Given the description of an element on the screen output the (x, y) to click on. 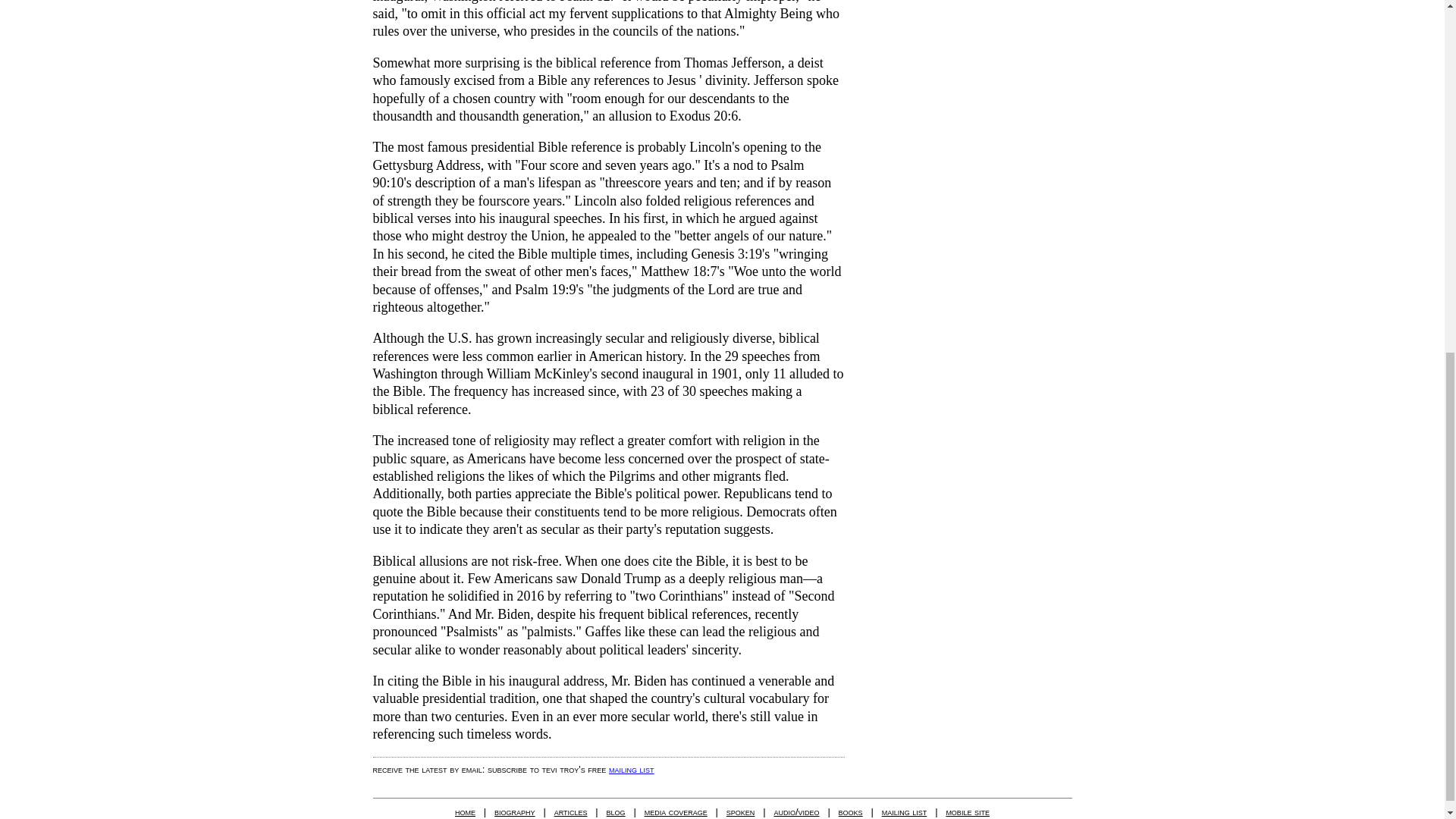
mailing list (630, 768)
blog (616, 811)
articles (571, 811)
home (465, 811)
biography (515, 811)
